Given the description of an element on the screen output the (x, y) to click on. 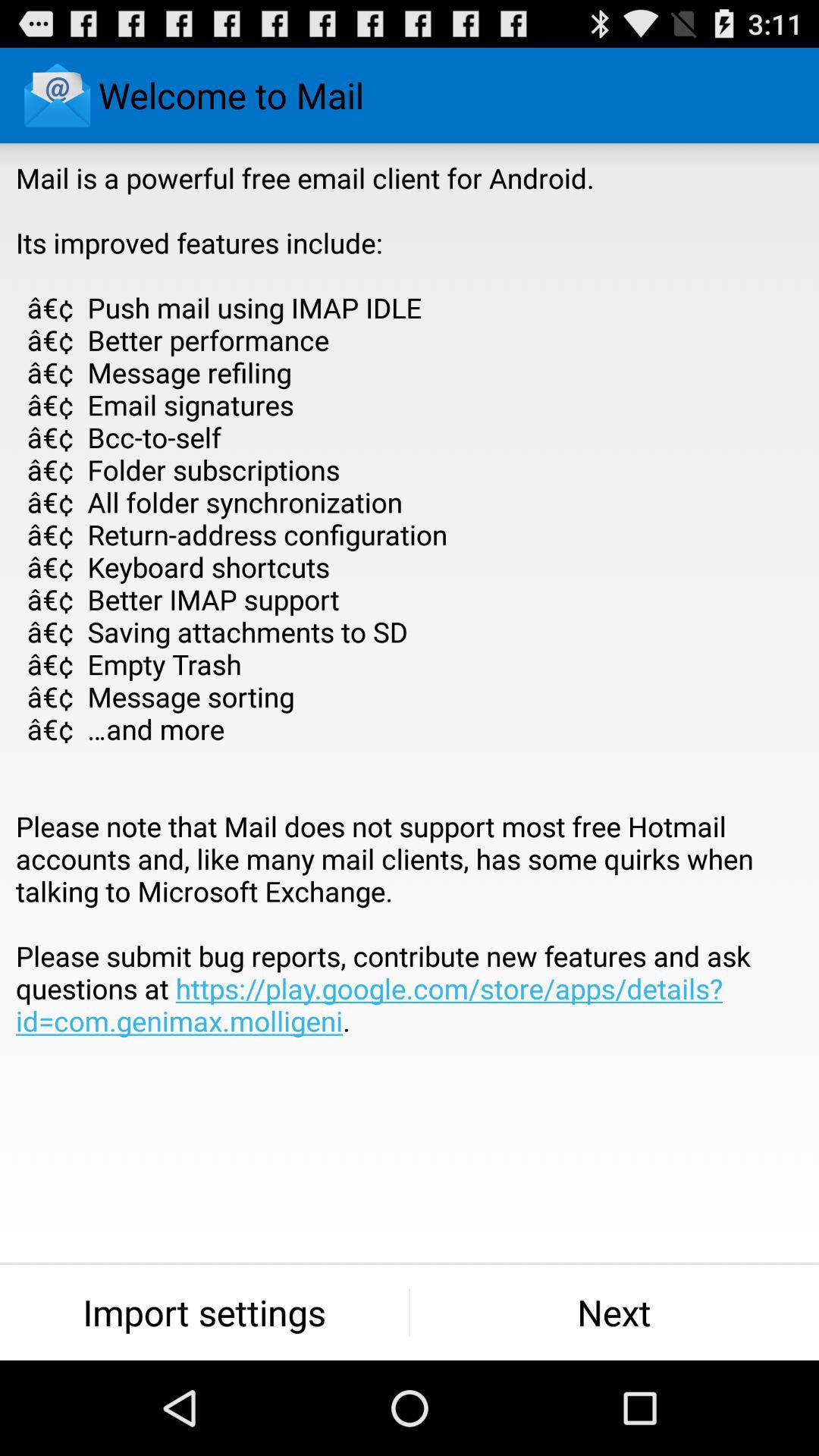
turn on icon to the left of next button (204, 1312)
